Given the description of an element on the screen output the (x, y) to click on. 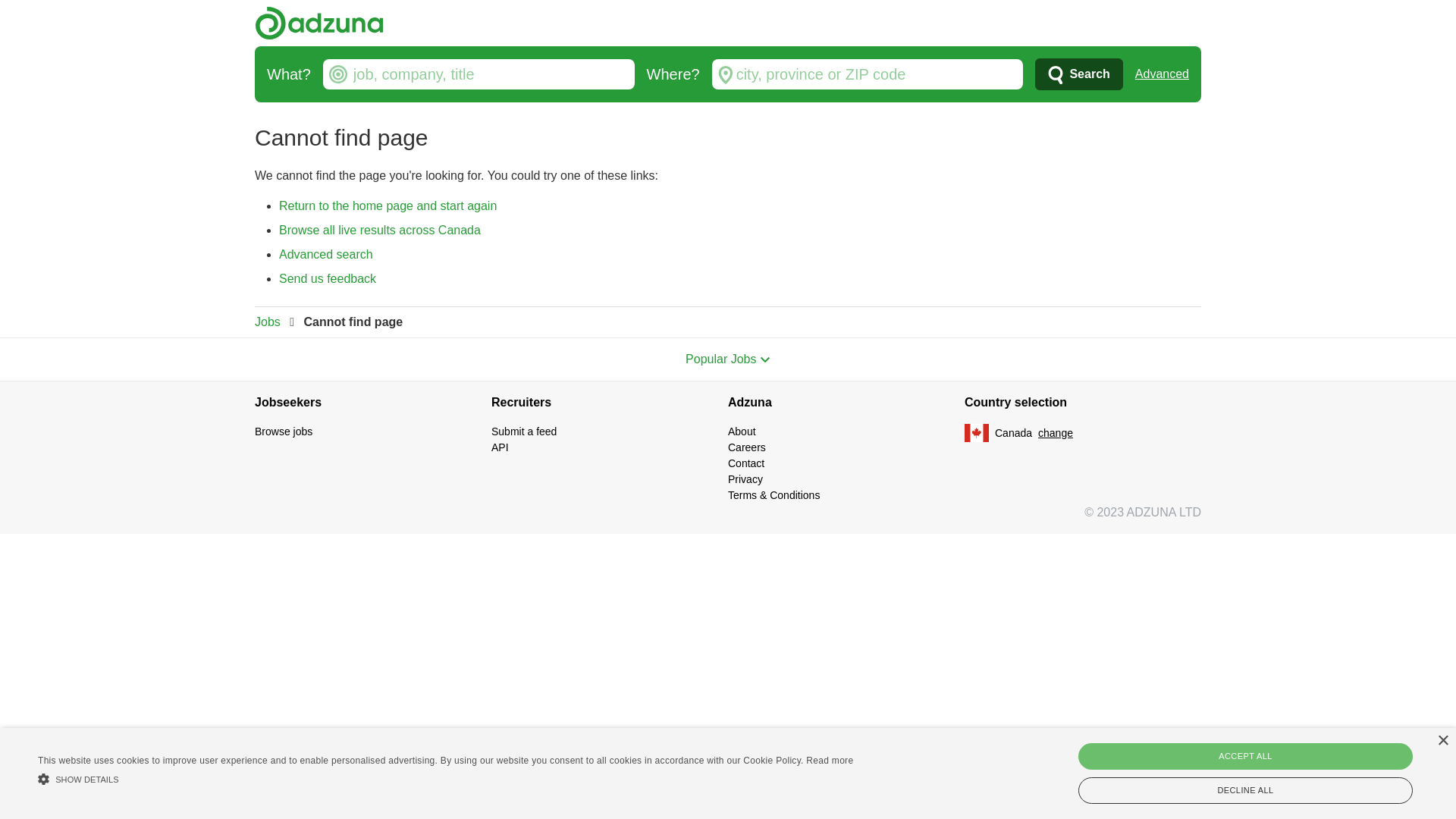
Return to the home page and start again Element type: text (387, 205)
Terms & Conditions Element type: text (773, 495)
Privacy Element type: text (745, 479)
About Element type: text (742, 431)
Careers Element type: text (746, 447)
Contact Element type: text (746, 463)
Advanced search Element type: text (326, 253)
Search Element type: text (1078, 74)
Browse all live results across Canada Element type: text (379, 229)
Send us feedback Element type: text (327, 278)
Recruiters Element type: text (609, 402)
Advanced Element type: text (1162, 74)
Jobseekers Element type: text (372, 402)
API Element type: text (499, 447)
Adzuna Element type: text (846, 402)
change Element type: text (1055, 432)
Jobs Element type: text (267, 321)
Submit a feed Element type: text (523, 431)
Popular Jobs Element type: text (727, 359)
Read more Element type: text (829, 760)
Browse jobs Element type: text (283, 431)
